Given the description of an element on the screen output the (x, y) to click on. 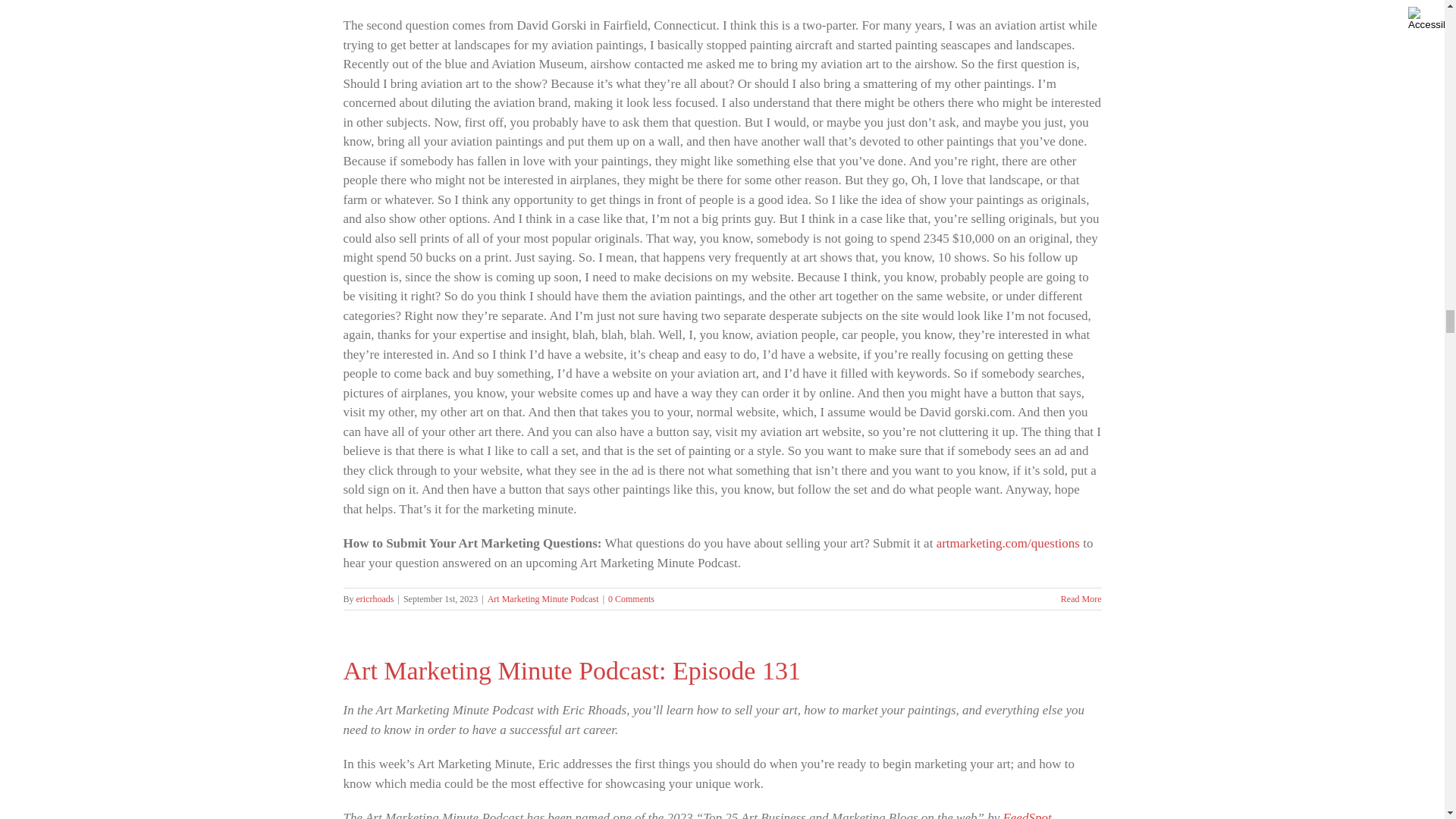
Posts by ericrhoads (375, 598)
